Given the description of an element on the screen output the (x, y) to click on. 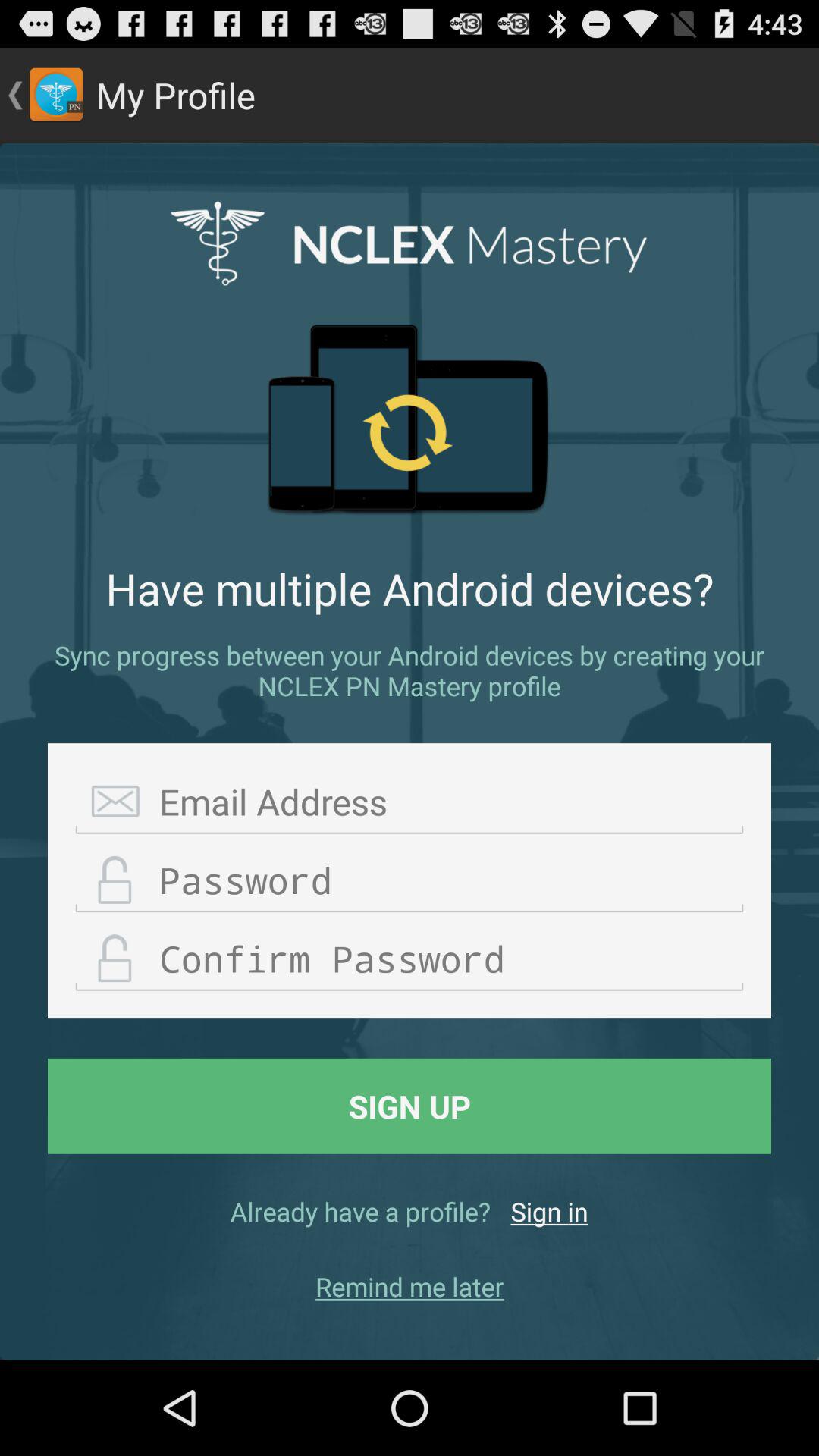
retype password (409, 959)
